Given the description of an element on the screen output the (x, y) to click on. 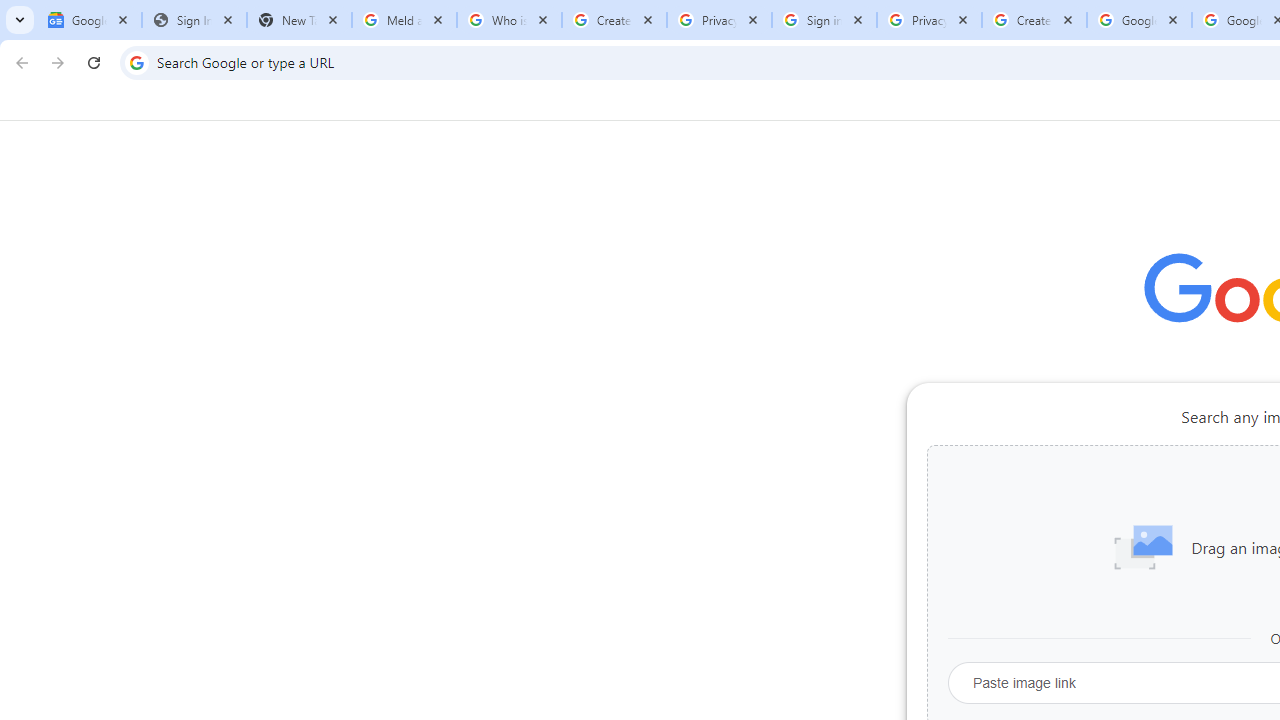
Create your Google Account (1033, 20)
More actions for Sign in shortcut (1095, 466)
New Tab (299, 20)
